Given the description of an element on the screen output the (x, y) to click on. 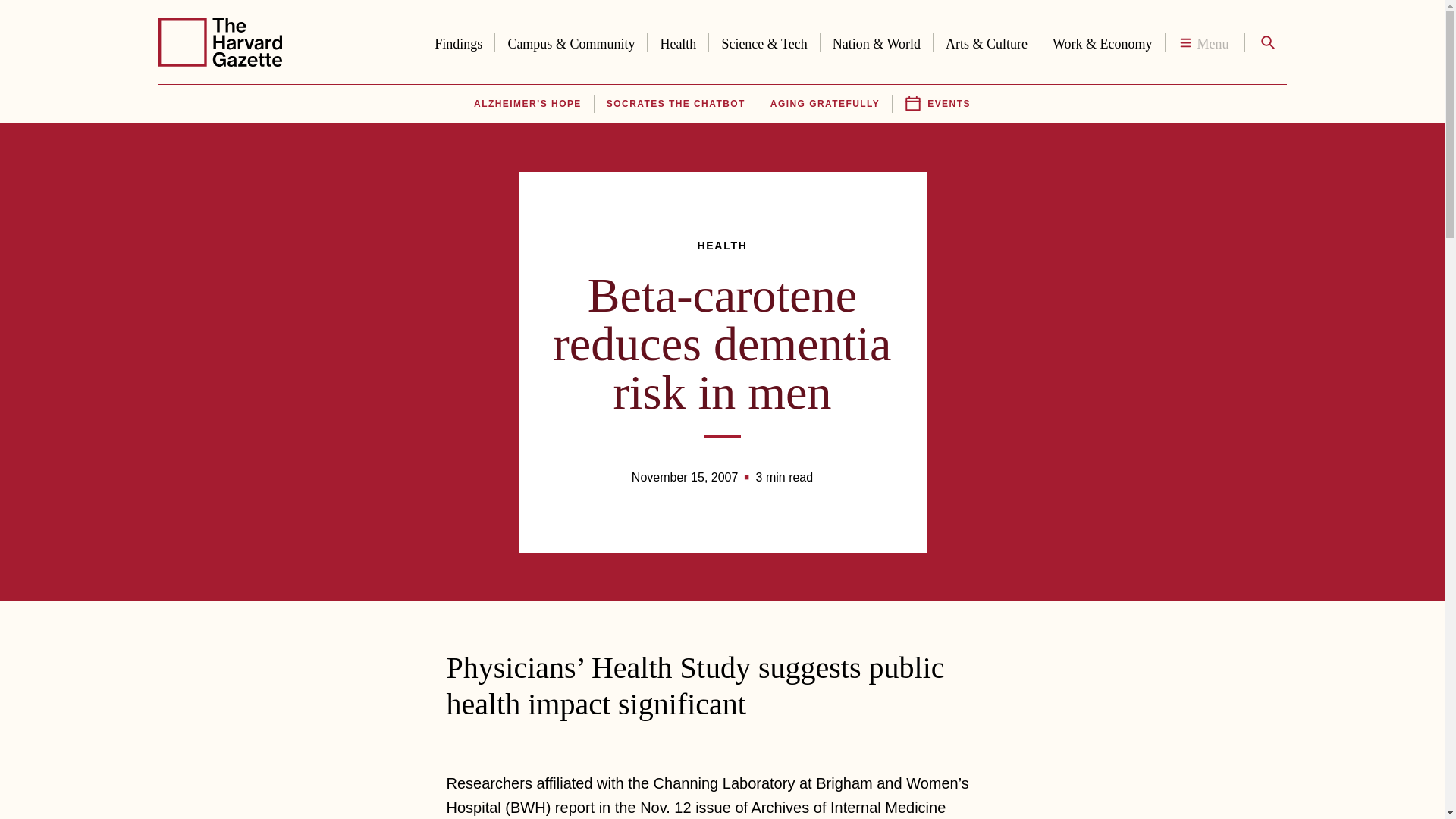
Health (677, 41)
Search (1266, 42)
SOCRATES THE CHATBOT (675, 103)
Findings (457, 41)
AGING GRATEFULLY (824, 103)
Menu (1204, 42)
